Given the description of an element on the screen output the (x, y) to click on. 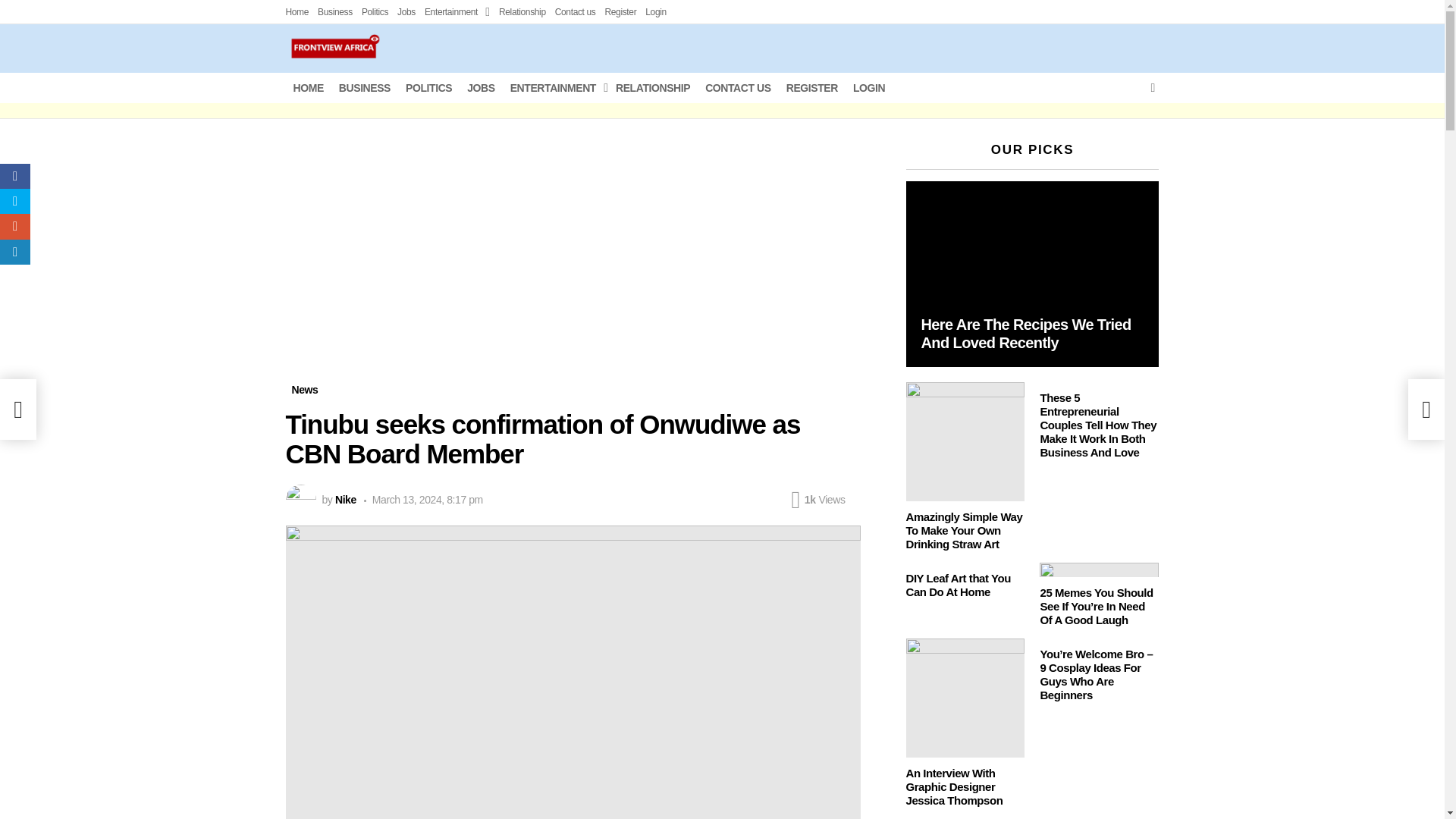
Nike (345, 499)
RELATIONSHIP (652, 87)
LOGIN (868, 87)
Politics (374, 12)
CONTACT US (737, 87)
HOME (307, 87)
BUSINESS (364, 87)
JOBS (481, 87)
REGISTER (811, 87)
POLITICS (428, 87)
Register (620, 12)
Relationship (522, 12)
Business (334, 12)
ENTERTAINMENT (555, 87)
Entertainment (457, 12)
